Given the description of an element on the screen output the (x, y) to click on. 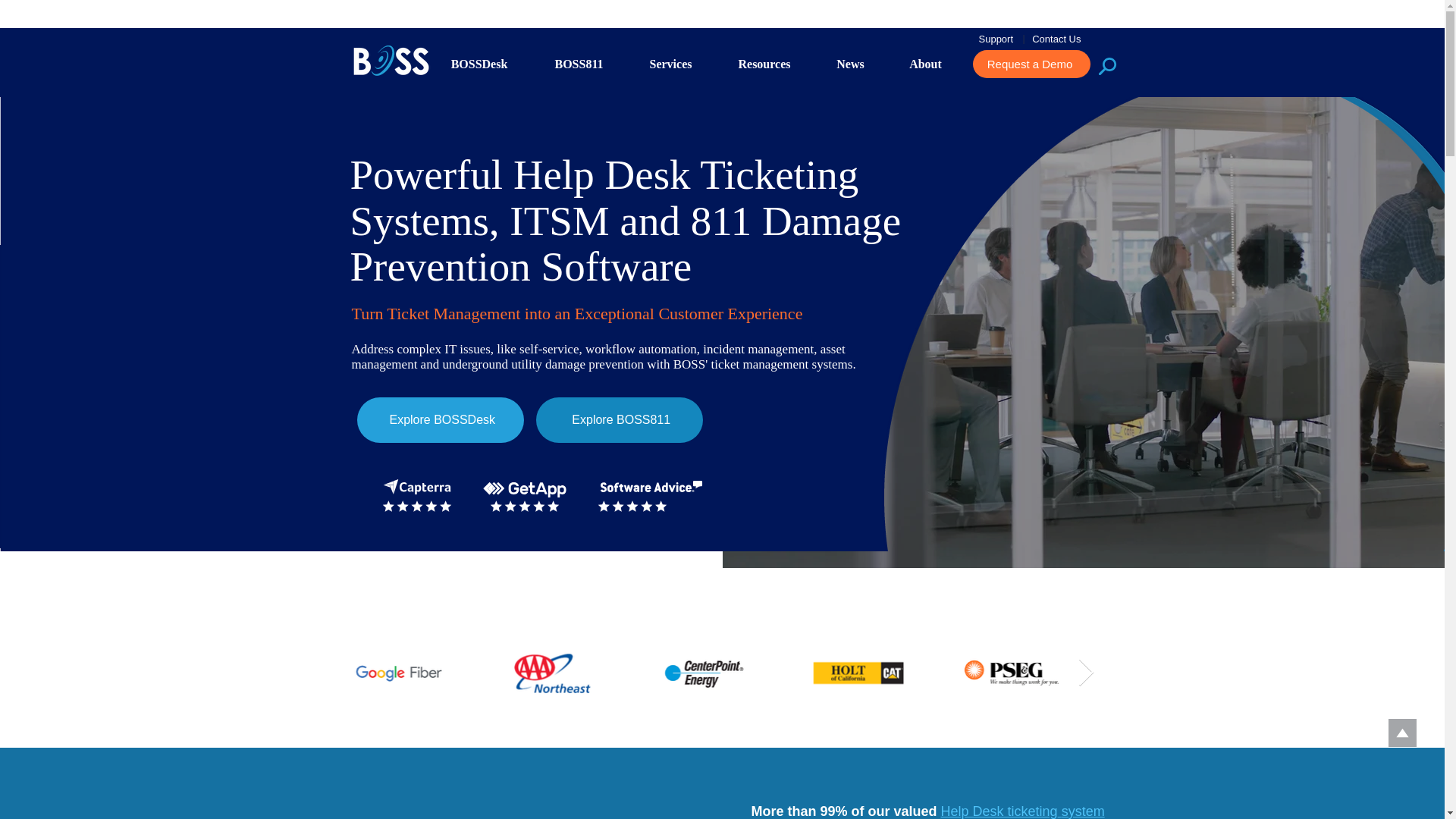
Support (999, 39)
Resources (763, 64)
Services (670, 64)
BOSS811 (578, 64)
Help Desk ticketing (999, 811)
Explore BOSS811 (618, 420)
News (849, 64)
BOSSDesk (479, 64)
About (924, 64)
Explore BOSSDesk (439, 420)
